Given the description of an element on the screen output the (x, y) to click on. 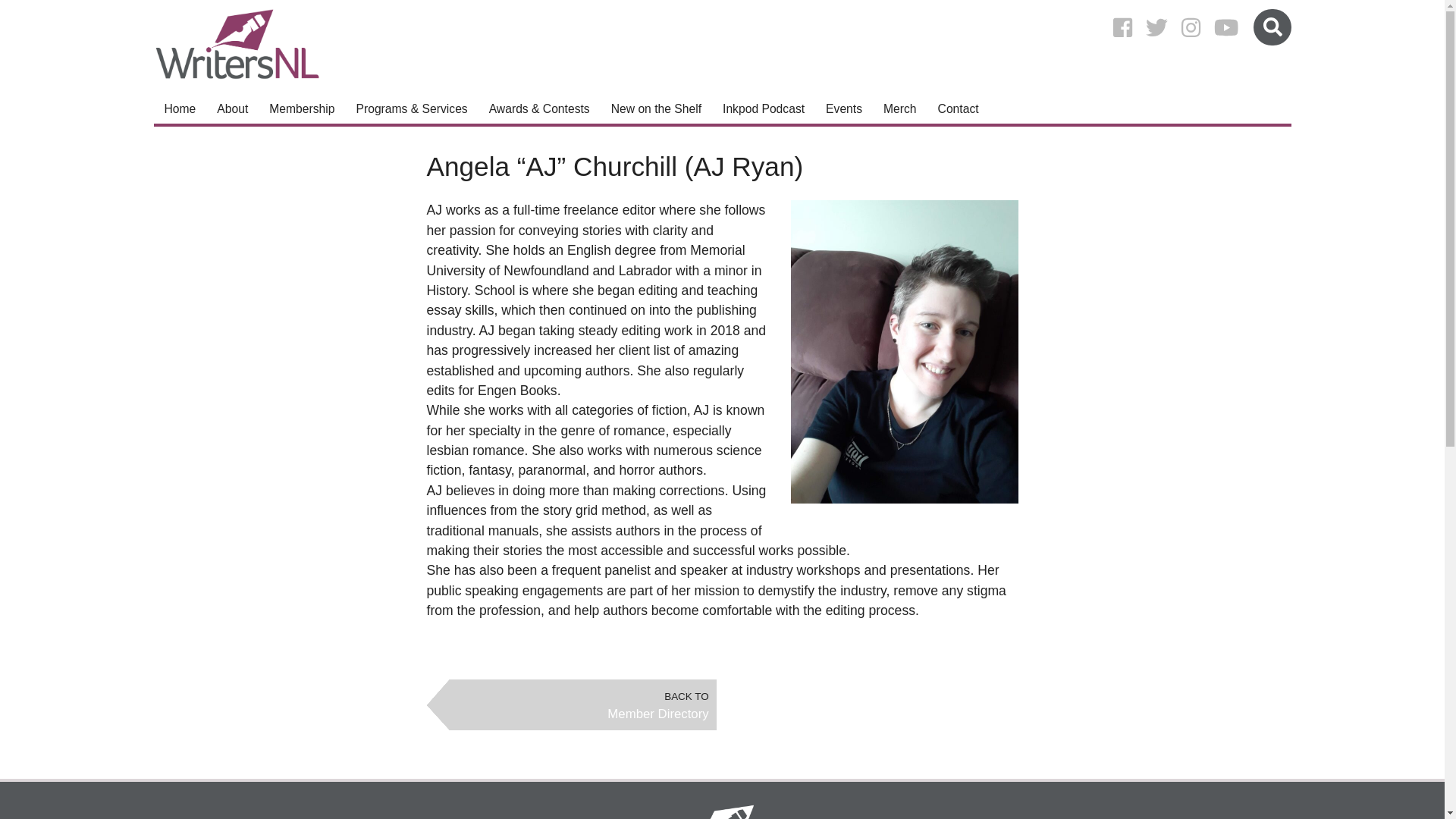
Contact (958, 109)
WritersNL on YouTube (1226, 27)
Search (1272, 27)
Events (843, 109)
Search (1272, 27)
Inkpod Podcast (763, 109)
WritersNL on Twitter (1156, 27)
Membership (302, 109)
Merch (899, 109)
About (232, 109)
